Given the description of an element on the screen output the (x, y) to click on. 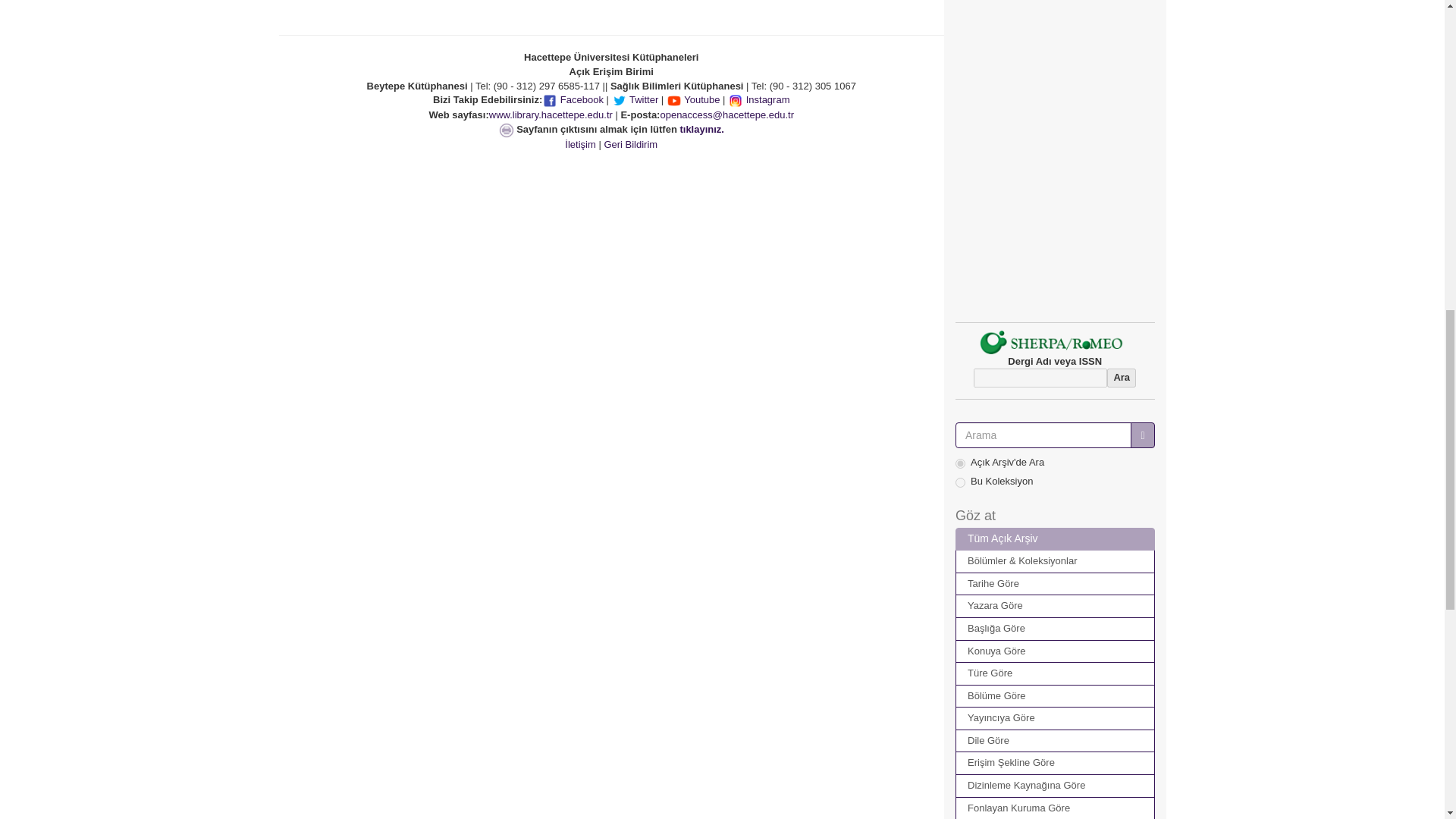
Facebook (572, 99)
Geri Bildirim (631, 143)
Ara (1120, 377)
Twitter (635, 99)
Instagram (758, 99)
www.library.hacettepe.edu.tr (550, 114)
Youtube (693, 99)
Bul (1142, 434)
